Given the description of an element on the screen output the (x, y) to click on. 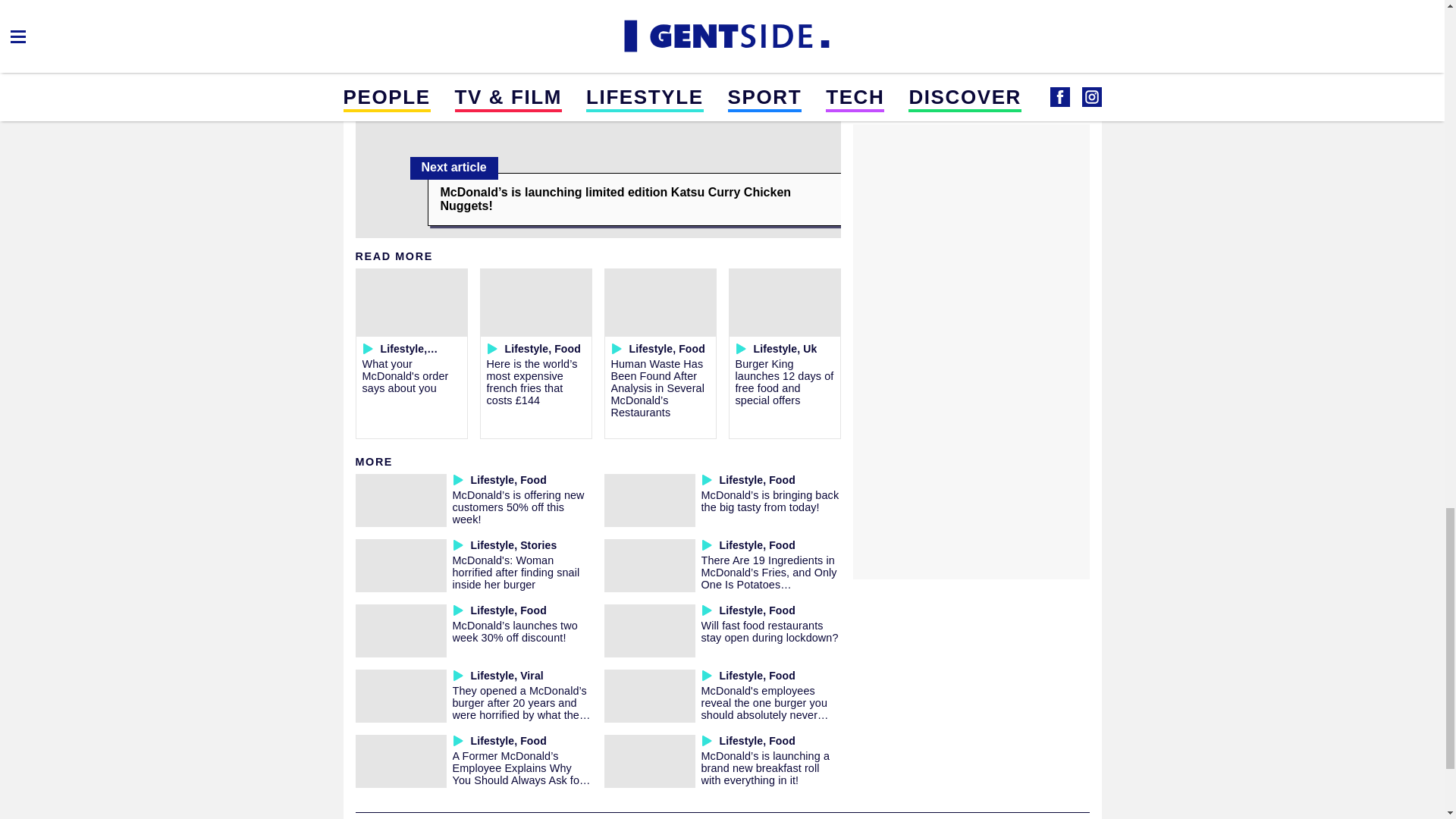
Burger King launches 12 days of free food and special offers (784, 381)
Will fast food restaurants stay open during lockdown? (769, 631)
What your McDonald's order says about you (405, 375)
